Given the description of an element on the screen output the (x, y) to click on. 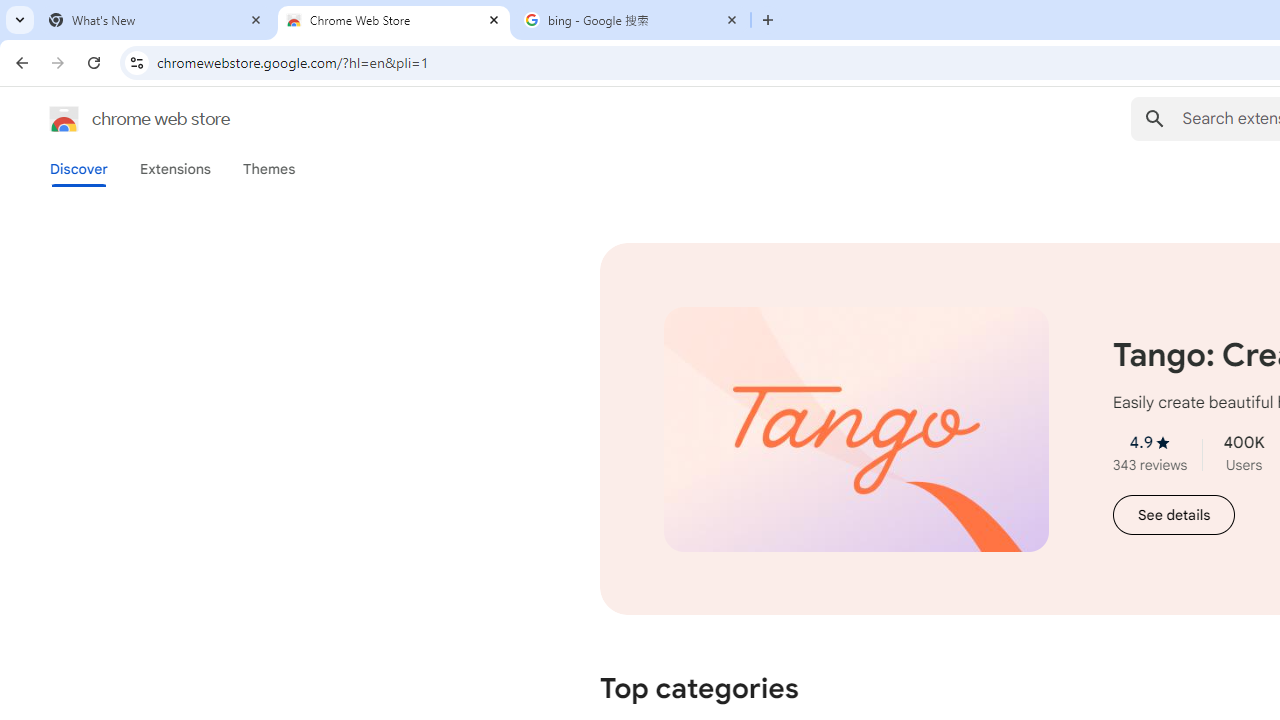
Chrome Web Store (394, 20)
What's New (156, 20)
